Given the description of an element on the screen output the (x, y) to click on. 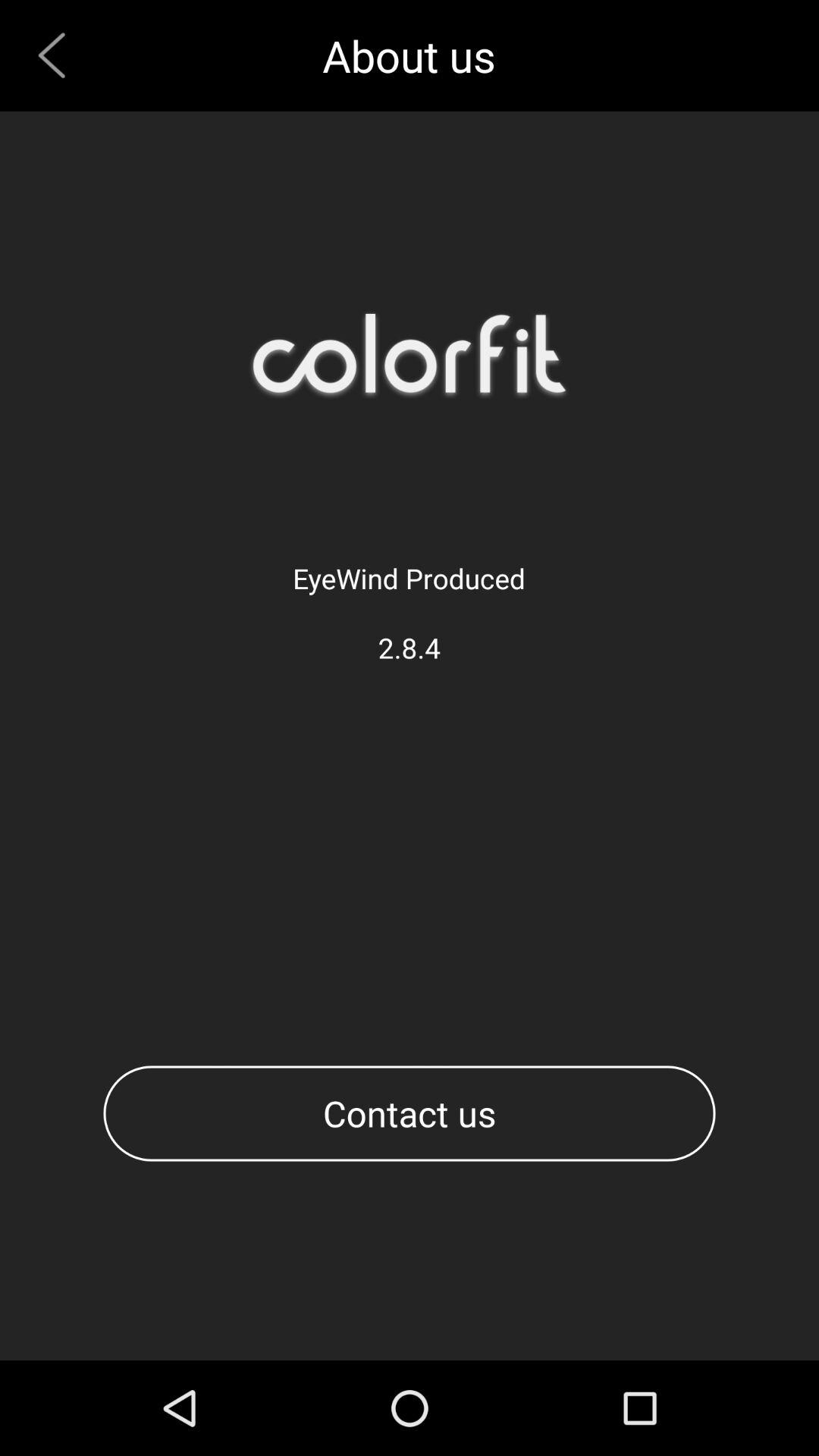
swipe to contact us icon (409, 1113)
